Given the description of an element on the screen output the (x, y) to click on. 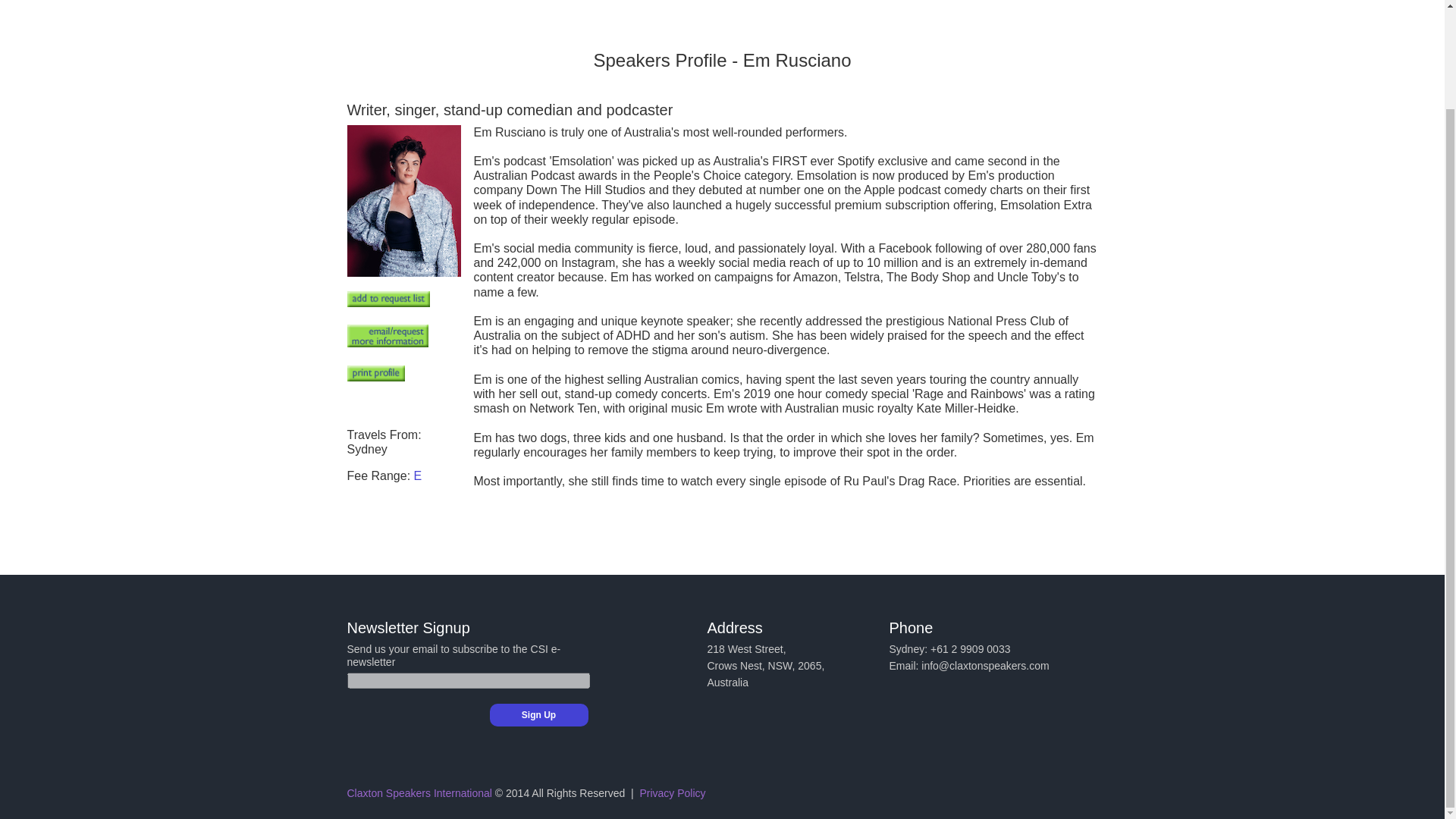
Claxton Speakers International (419, 793)
Privacy Policy (671, 793)
Sign Up (538, 714)
Sign Up (538, 714)
